Given the description of an element on the screen output the (x, y) to click on. 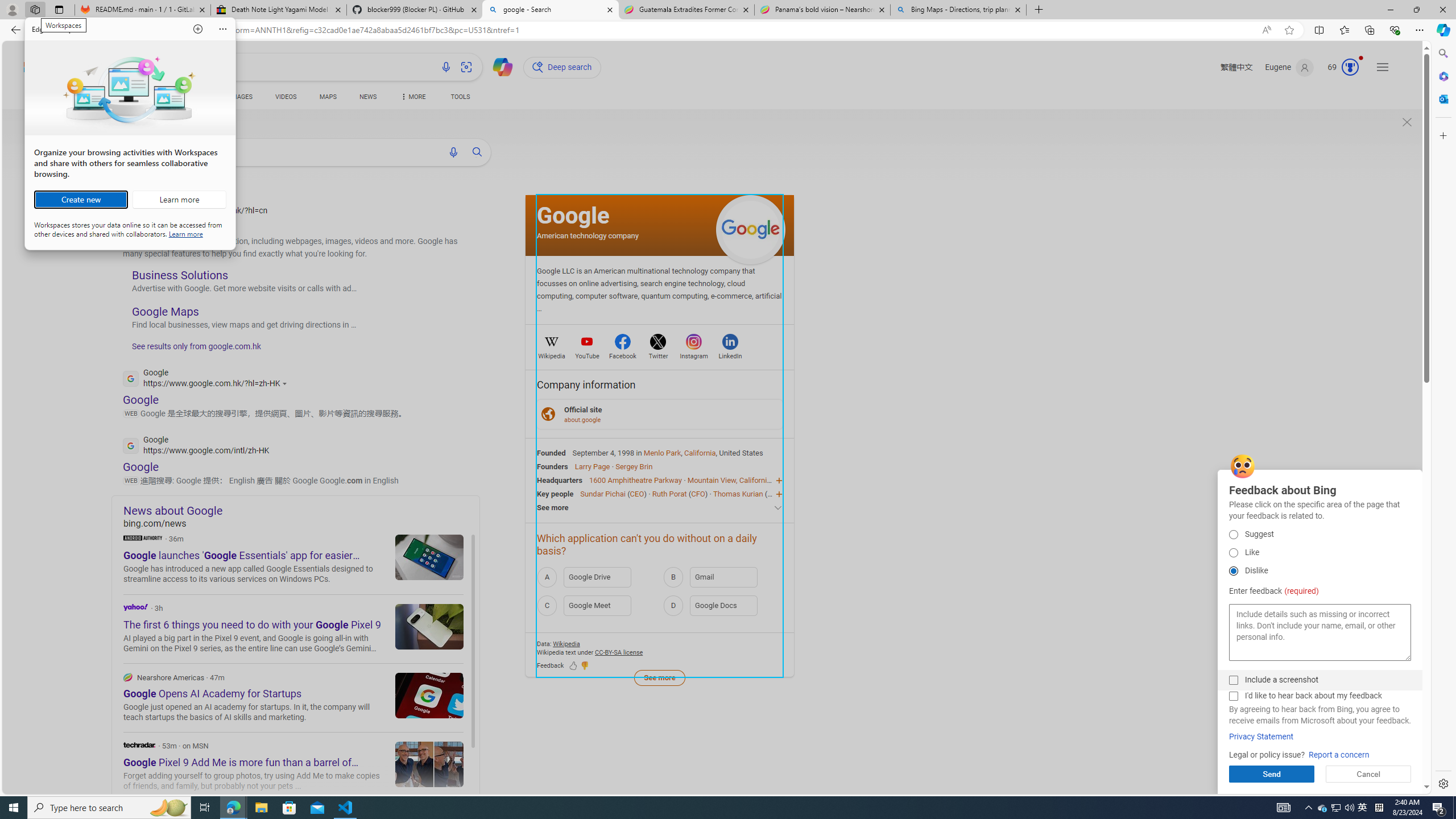
Learn more about Workspaces privacy (185, 233)
Microsoft Edge - 2 running windows (233, 807)
